Given the description of an element on the screen output the (x, y) to click on. 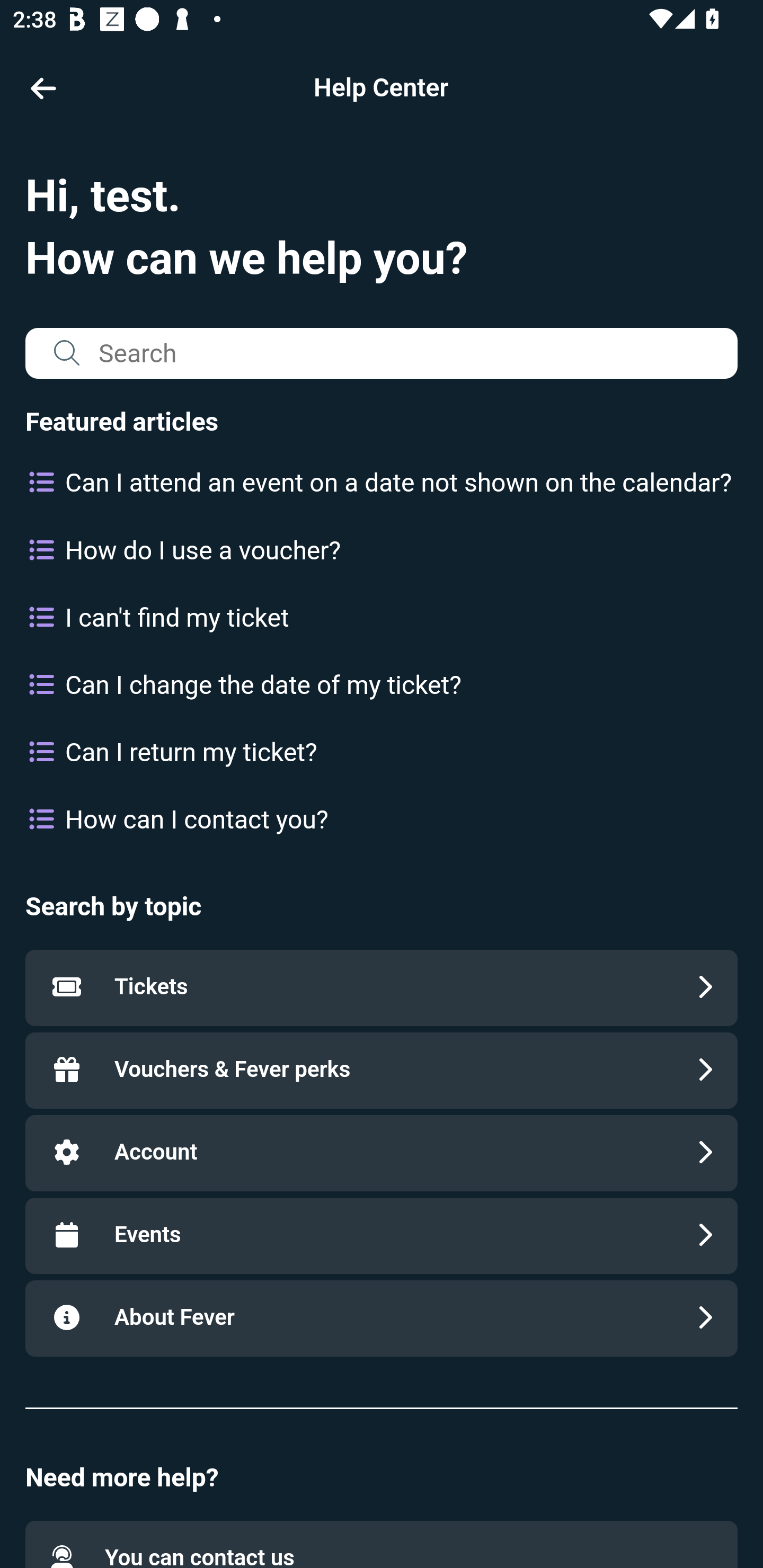
How do I use a voucher? (381, 551)
I can't find my ticket (381, 616)
Can I change the date of my ticket? (381, 685)
Can I return my ticket? (381, 752)
How can I contact you? (381, 819)
Tickets (381, 987)
Vouchers & Fever perks (381, 1069)
Account (381, 1152)
Events (381, 1235)
About Fever (381, 1318)
You can contact us (381, 1543)
